Given the description of an element on the screen output the (x, y) to click on. 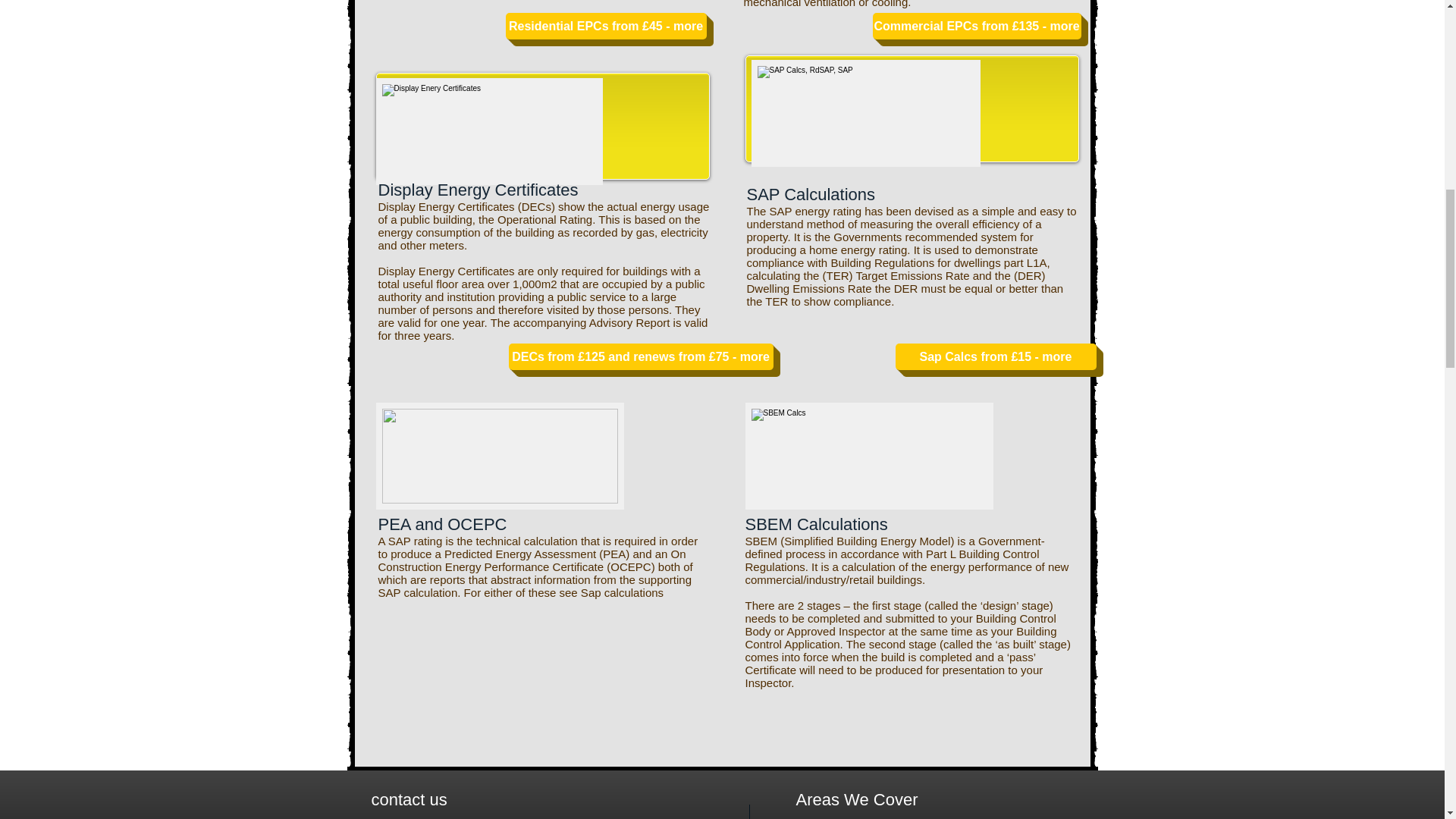
sap.jpg (865, 113)
sbem.jpg (499, 455)
sbem.jpg (868, 455)
